Given the description of an element on the screen output the (x, y) to click on. 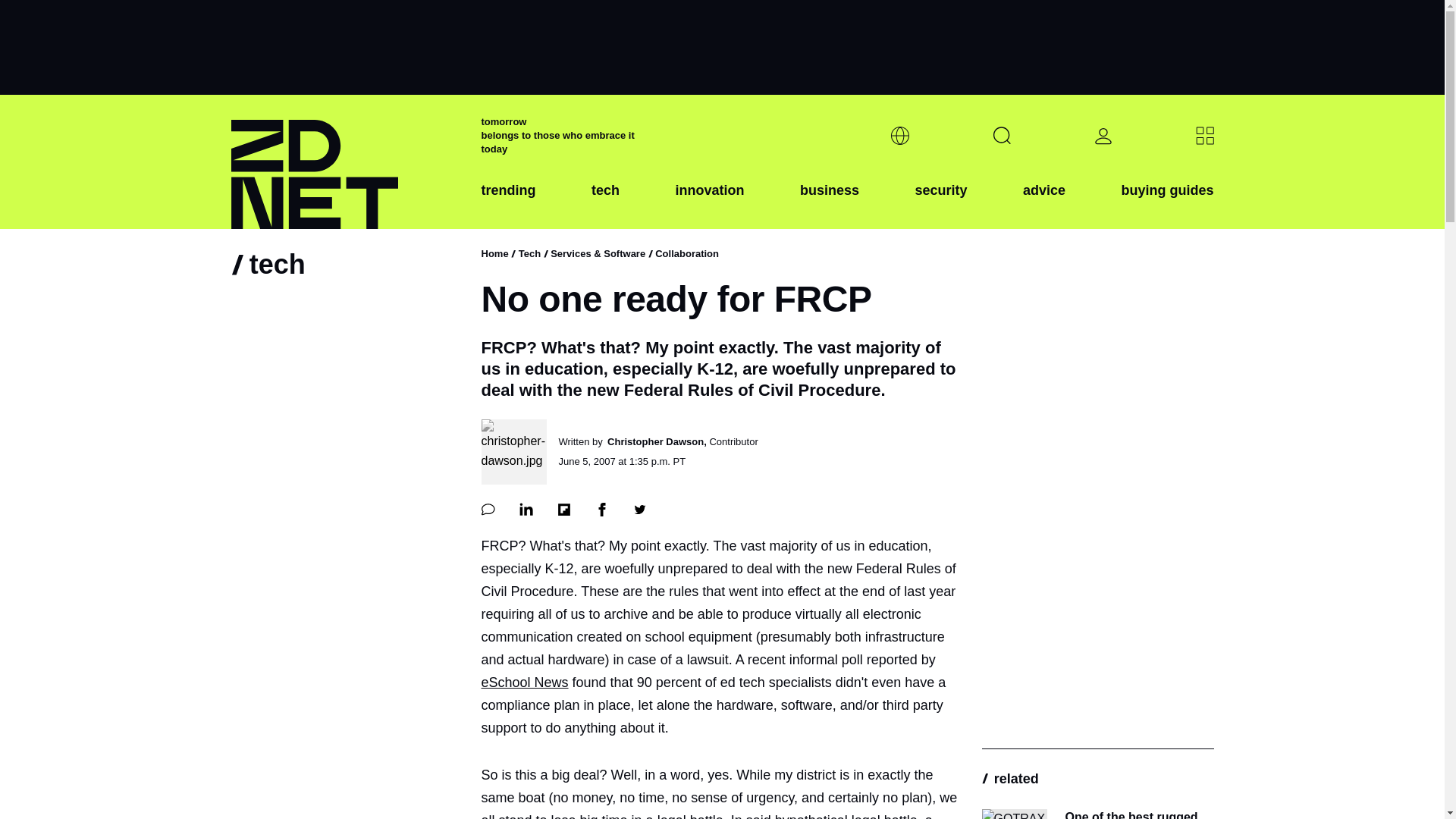
ZDNET (346, 162)
trending (507, 202)
